Given the description of an element on the screen output the (x, y) to click on. 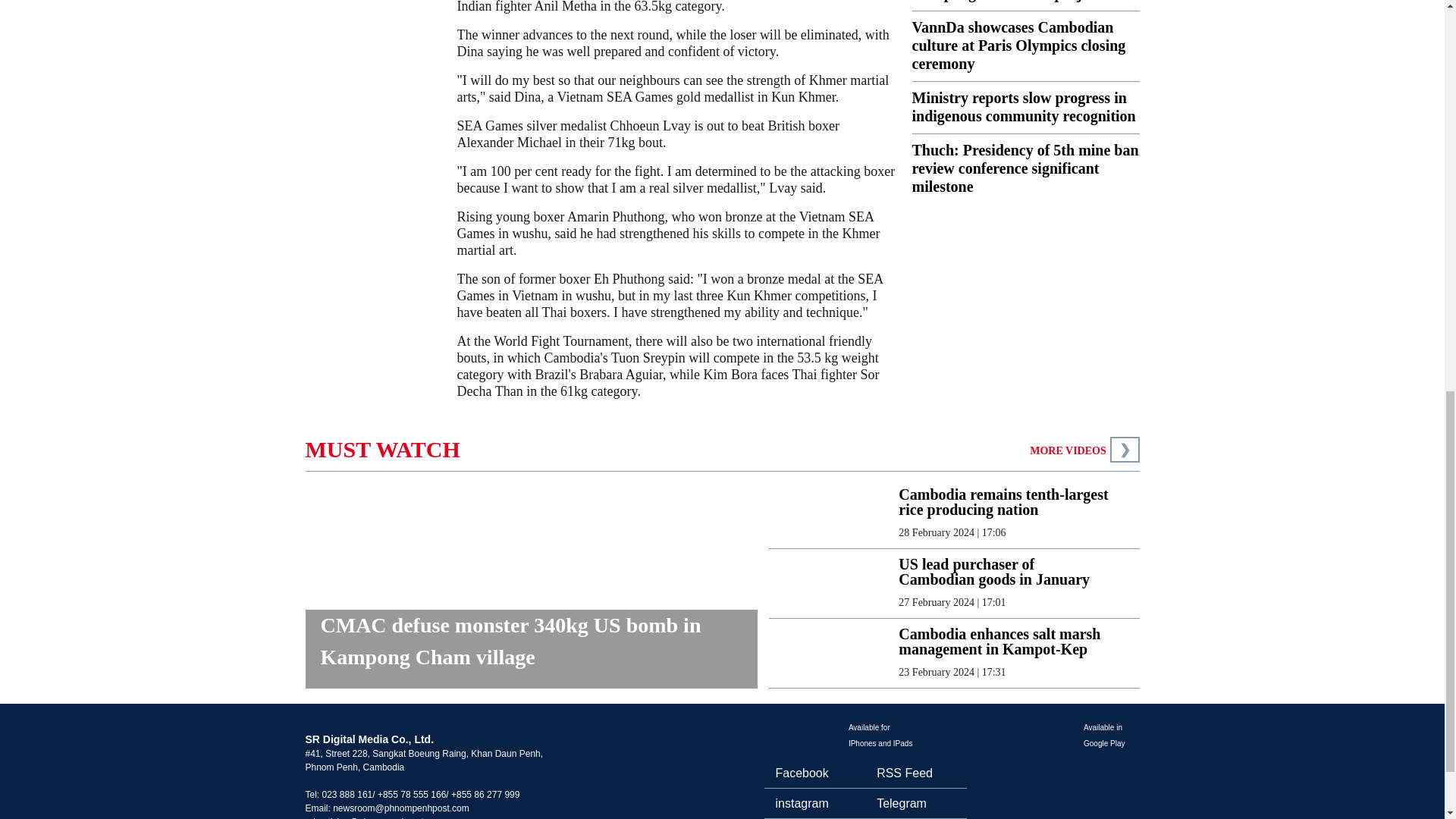
MORE VIDEOS (1067, 450)
Cambodia remains tenth-largest rice producing nation (1005, 501)
CMAC defuse monster 340kg US bomb in Kampong Cham village (530, 648)
